Given the description of an element on the screen output the (x, y) to click on. 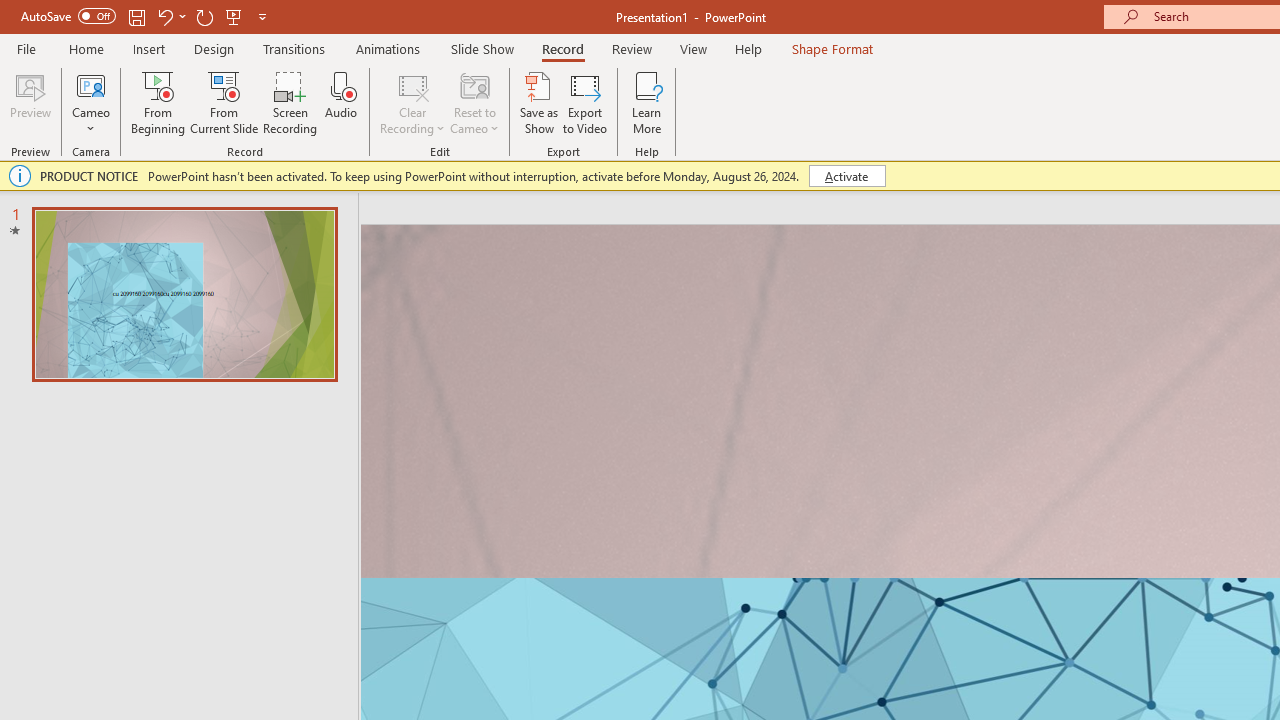
Save as Show (539, 102)
Reset to Cameo (474, 102)
From Current Slide... (224, 102)
Activate (846, 175)
Export to Video (585, 102)
Screen Recording (290, 102)
